Given the description of an element on the screen output the (x, y) to click on. 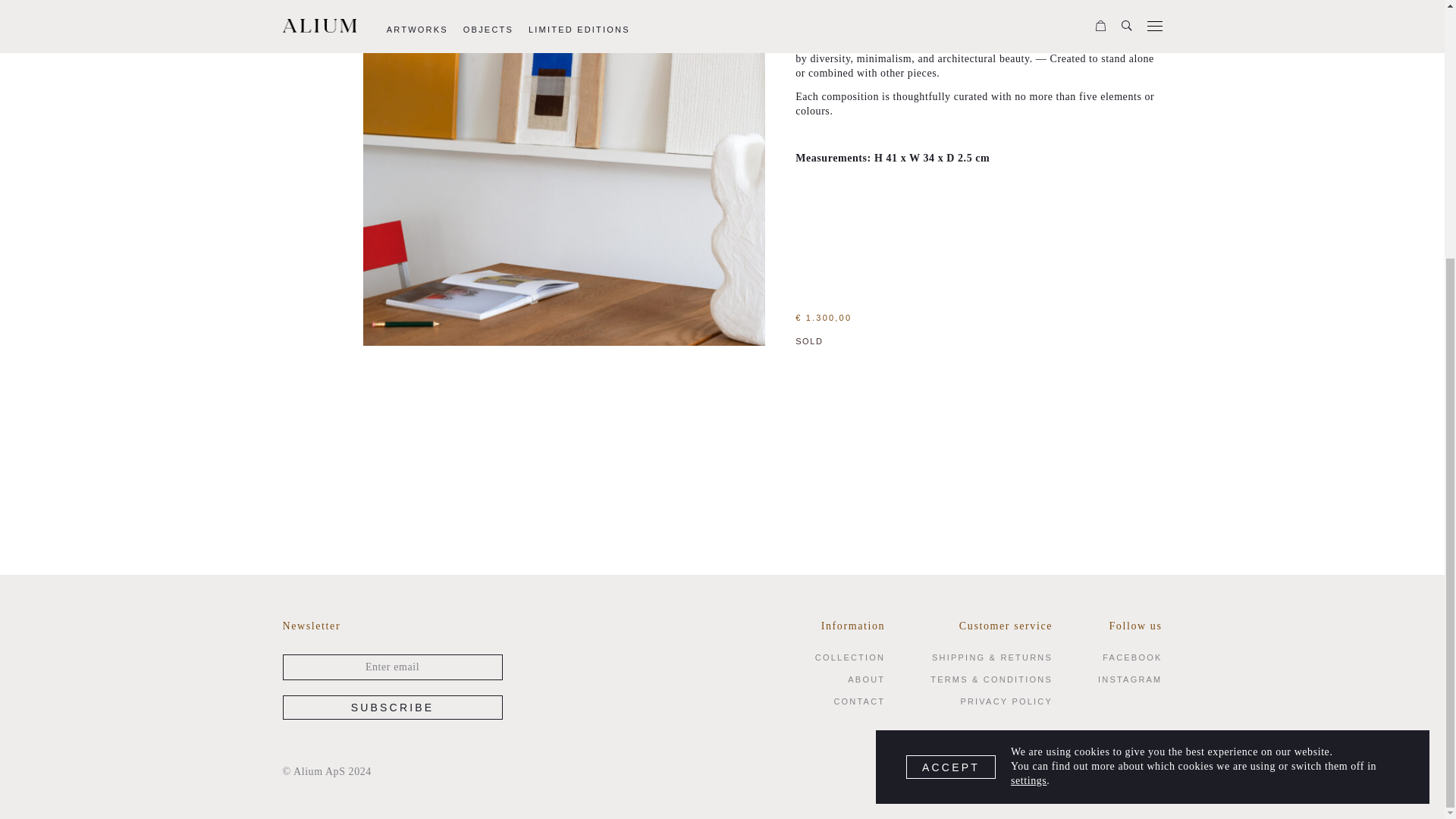
ACCEPT (950, 397)
ABOUT (866, 679)
FACEBOOK (1131, 657)
SUBSCRIBE (392, 707)
CONTACT (858, 701)
PRIVACY POLICY (1005, 701)
COLLECTION (850, 657)
INSTAGRAM (1129, 679)
